Given the description of an element on the screen output the (x, y) to click on. 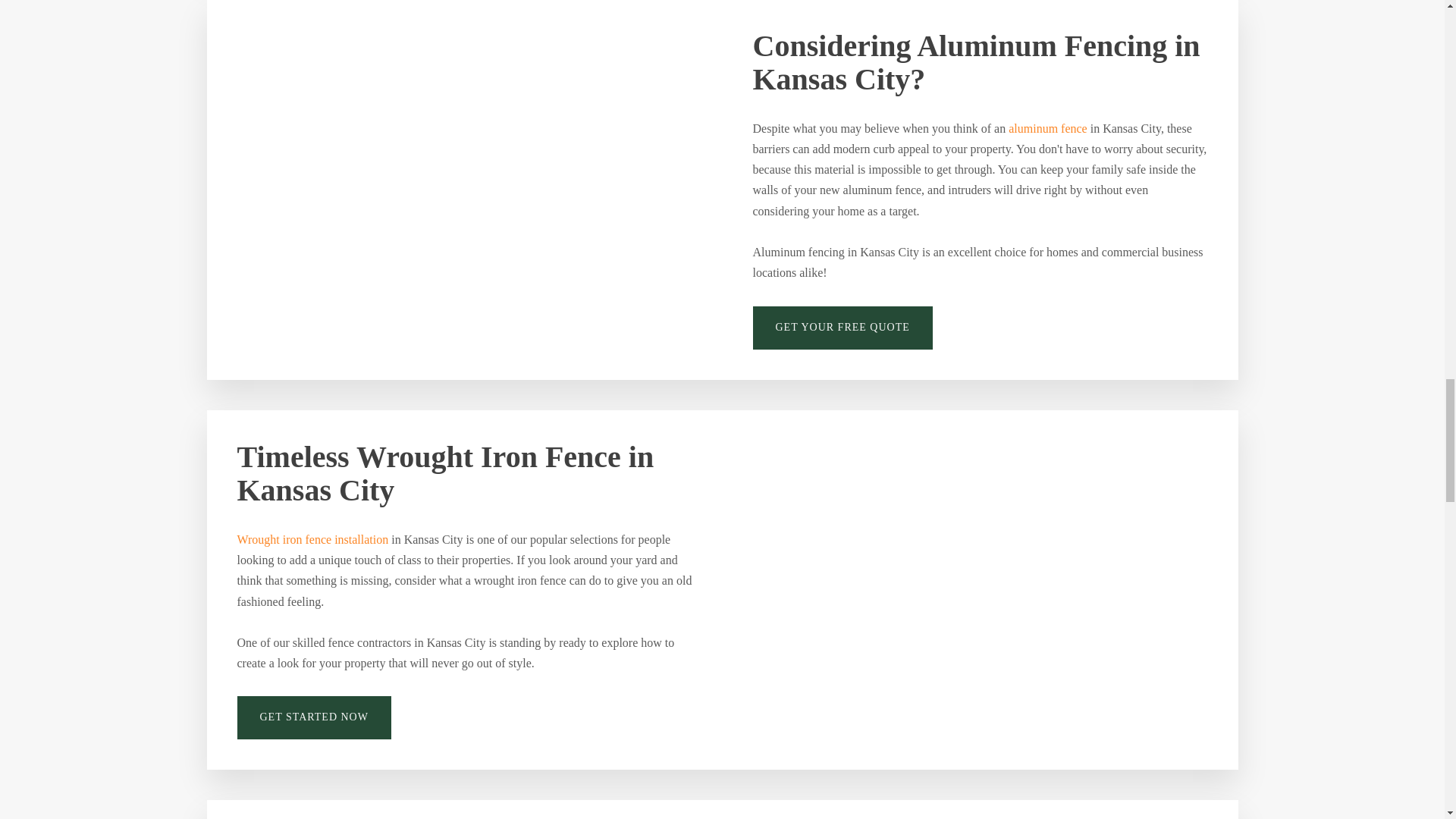
aluminum fence (1048, 127)
GET STARTED NOW (312, 717)
Wrought iron fence installation (311, 539)
GET YOUR FREE QUOTE (841, 327)
